Given the description of an element on the screen output the (x, y) to click on. 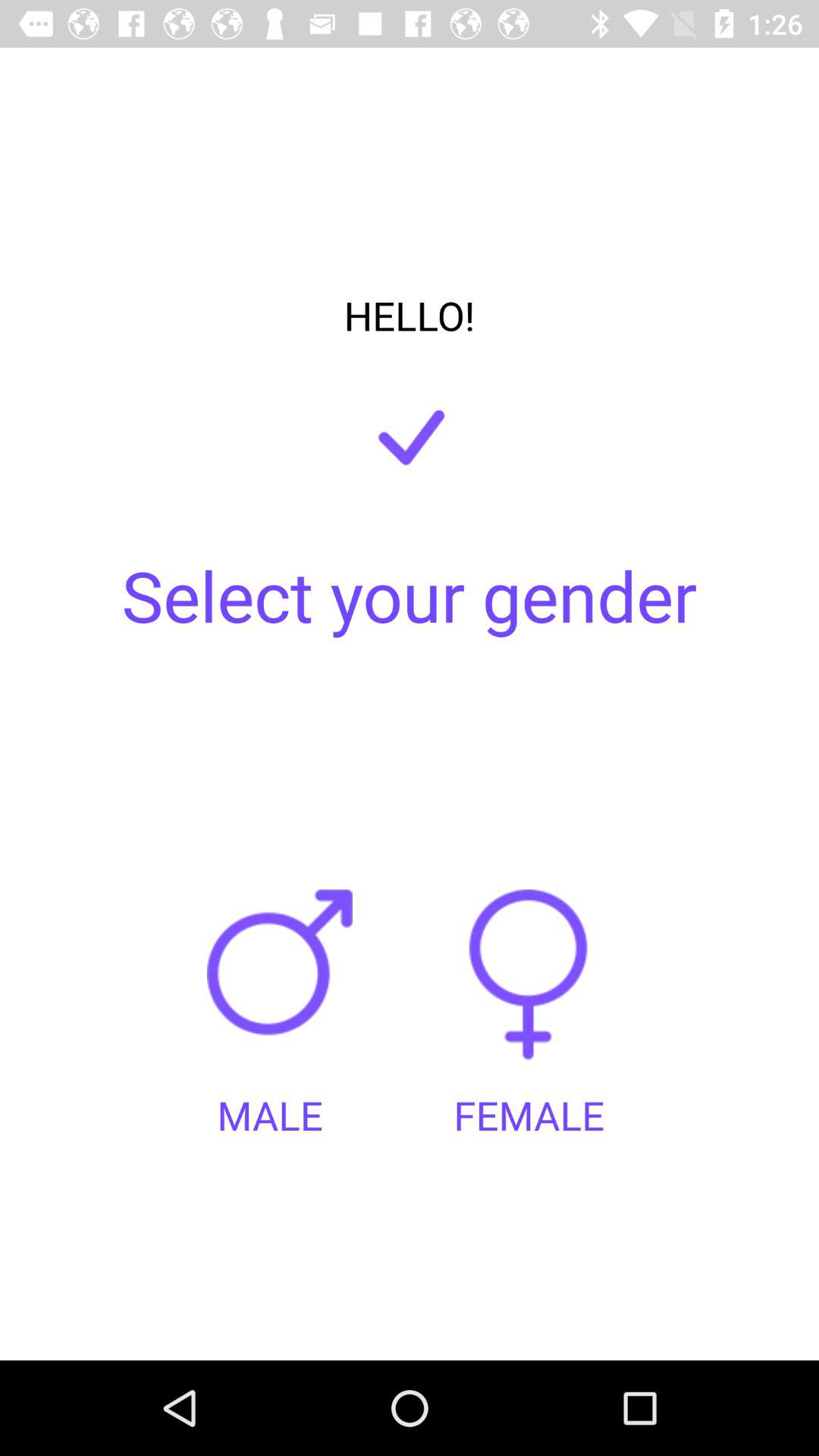
press the icon above the male item (284, 988)
